Given the description of an element on the screen output the (x, y) to click on. 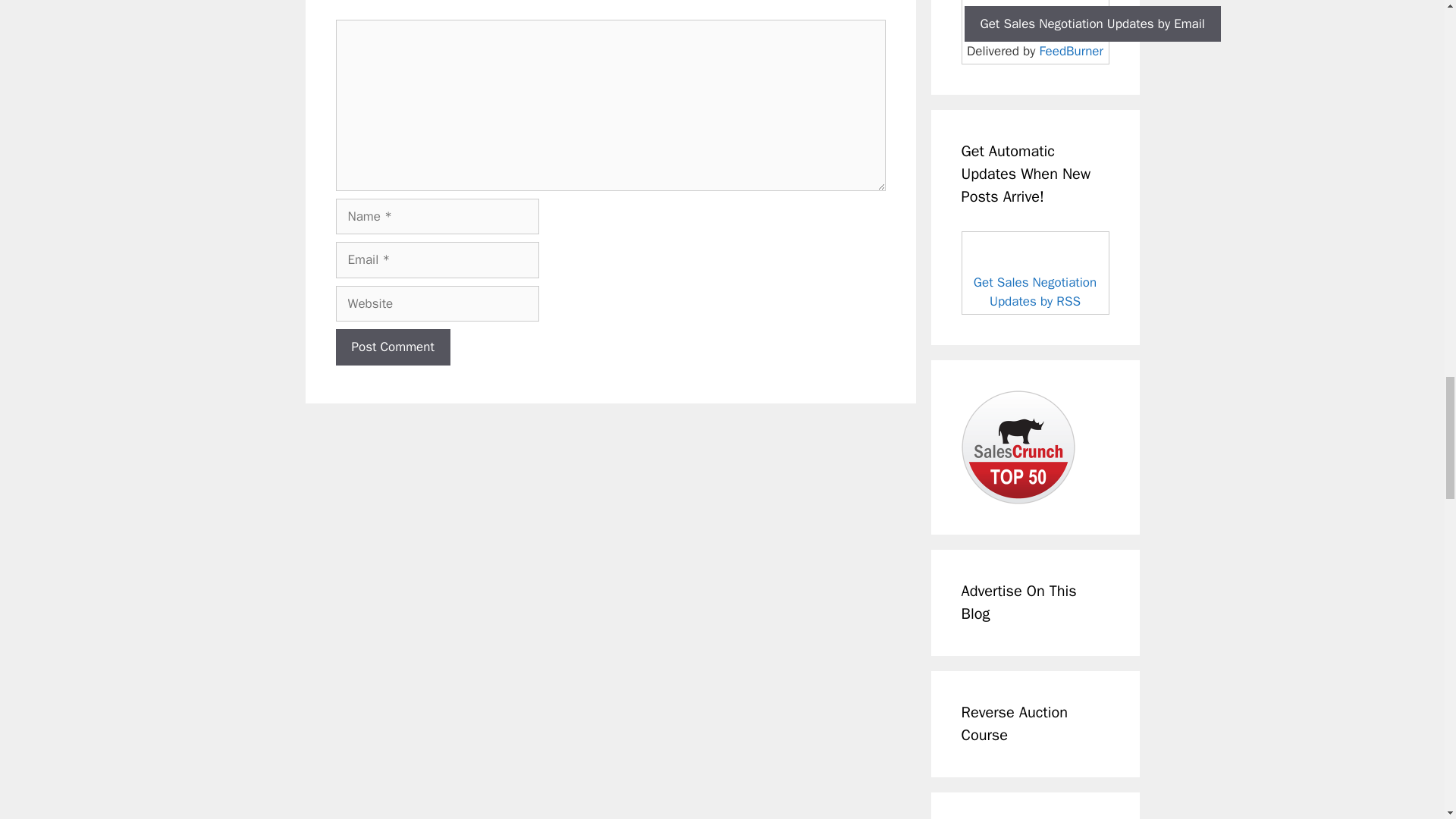
Subscribe to my feed (1034, 272)
Post Comment (391, 347)
Get Sales Negotiation Updates by Email (1092, 23)
Post Comment (391, 347)
Get Sales Negotiation Updates by RSS (1035, 292)
